Given the description of an element on the screen output the (x, y) to click on. 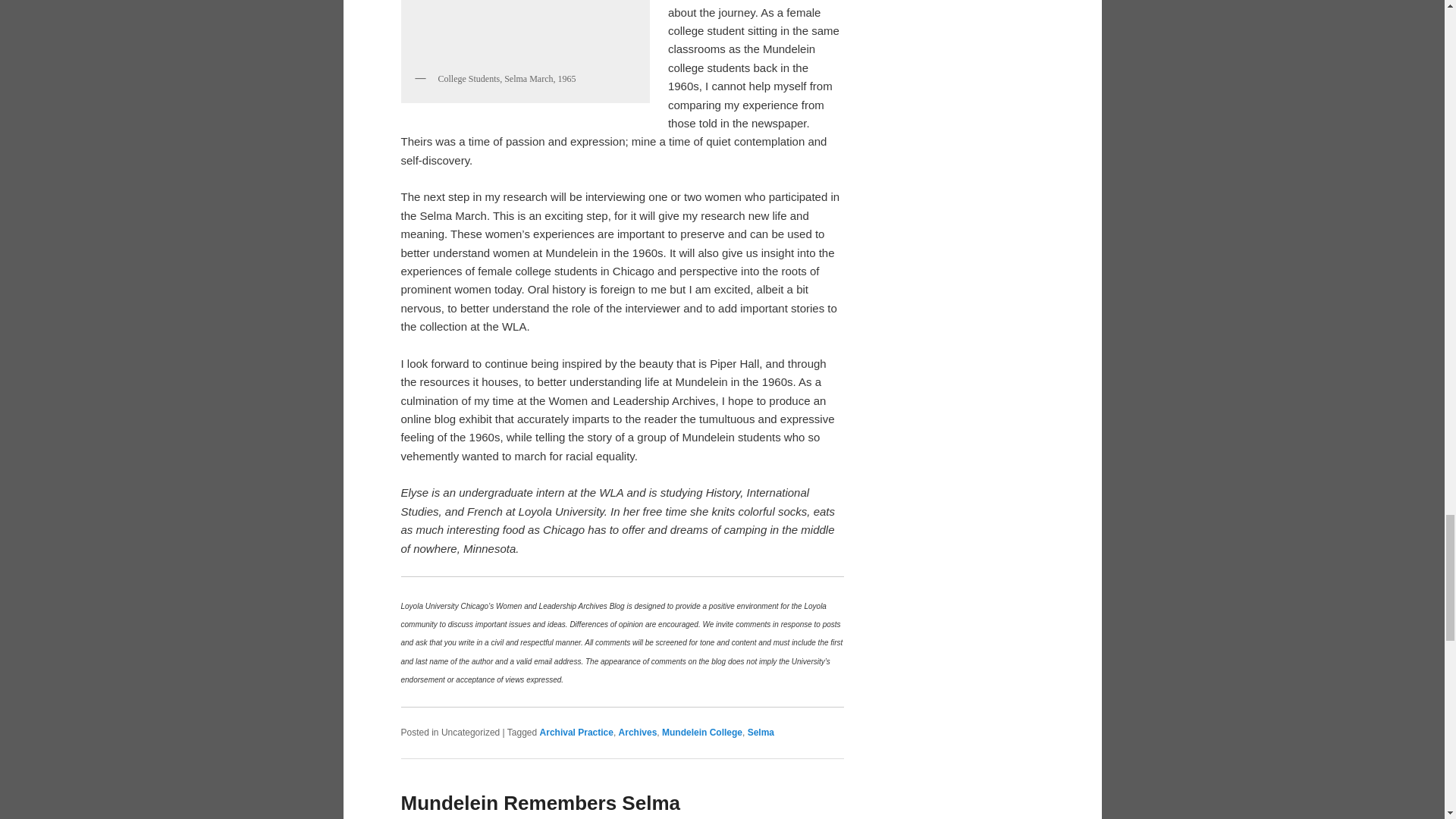
Mundelein College (702, 732)
Permalink to Mundelein Remembers Selma (539, 802)
Archival Practice (576, 732)
Archives (638, 732)
Selma (761, 732)
Mundelein Remembers Selma (539, 802)
